Given the description of an element on the screen output the (x, y) to click on. 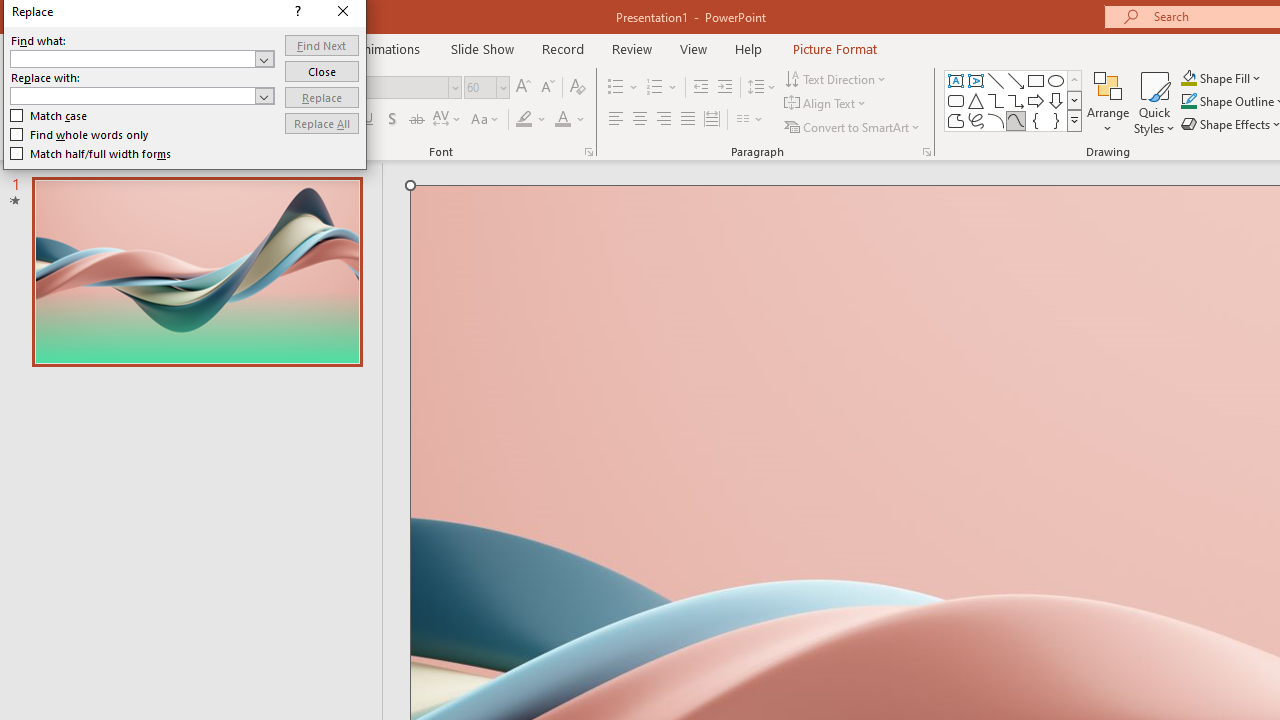
AutomationID: ShapesInsertGallery (1014, 100)
Arc (995, 120)
Increase Font Size (522, 87)
Center (639, 119)
Row up (1074, 79)
Quick Styles (1154, 102)
Replace All (321, 123)
Shape Outline Blue, Accent 1 (1188, 101)
Connector: Elbow (995, 100)
Match half/full width forms (91, 154)
Replace with (142, 96)
Rectangle: Rounded Corners (955, 100)
Find what (142, 58)
